Given the description of an element on the screen output the (x, y) to click on. 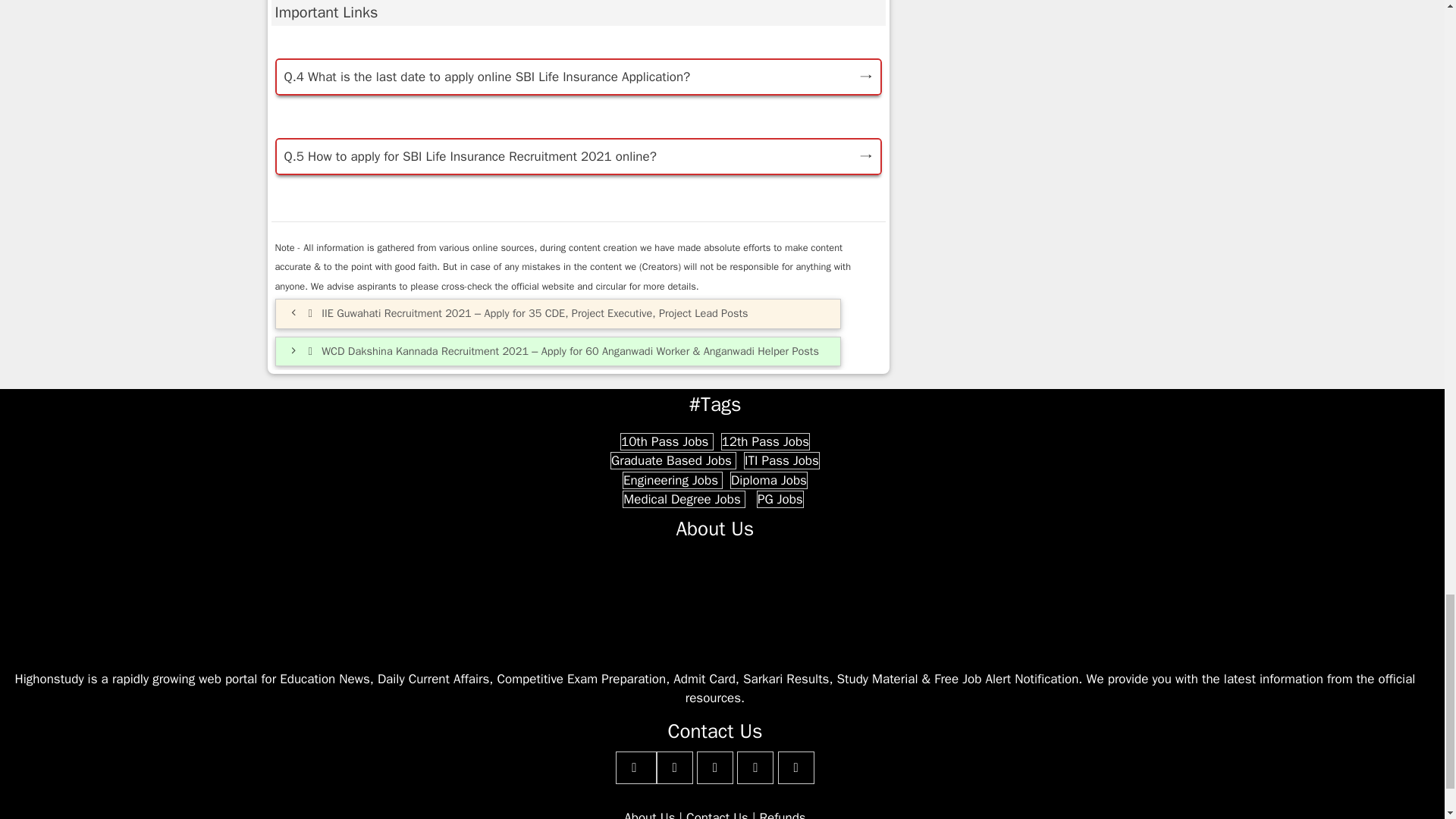
Previous (526, 313)
Next (561, 350)
